Given the description of an element on the screen output the (x, y) to click on. 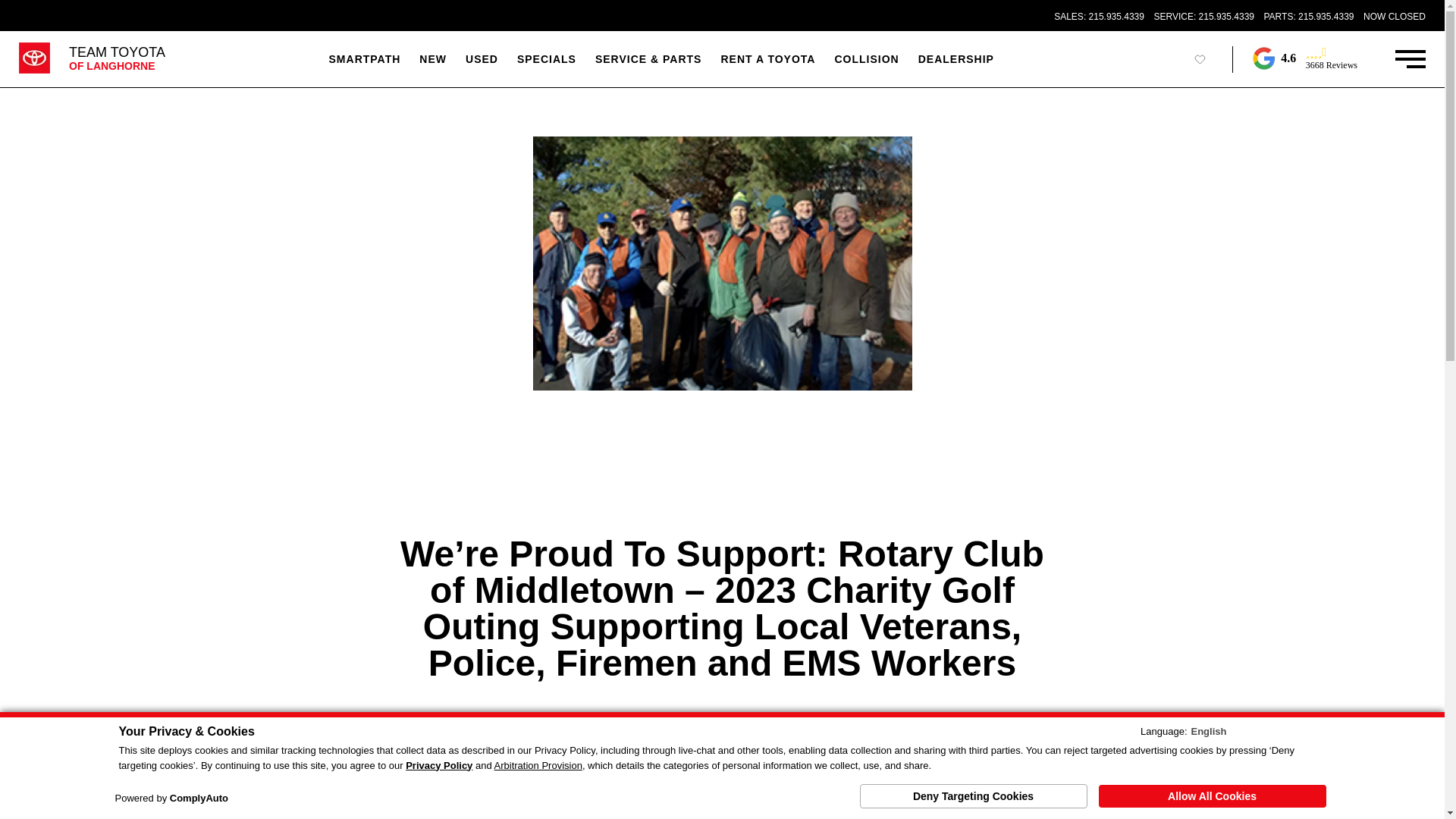
Call Service at Team Toyota of Langhorne (1203, 16)
NOW CLOSED (1393, 16)
PARTS: 215.935.4339 (1308, 16)
SERVICE: 215.935.4339 (1203, 16)
Team Toyota of Langhorne (116, 58)
Get Hours and Directions to Team Toyota of Langhorne (1393, 16)
Call Parts at Team Toyota of Langhorne (116, 58)
SMARTPATH (1308, 16)
Call Sales at Team Toyota of Langhorne (364, 58)
SALES: 215.935.4339 (1099, 16)
Toyota (1099, 16)
